Given the description of an element on the screen output the (x, y) to click on. 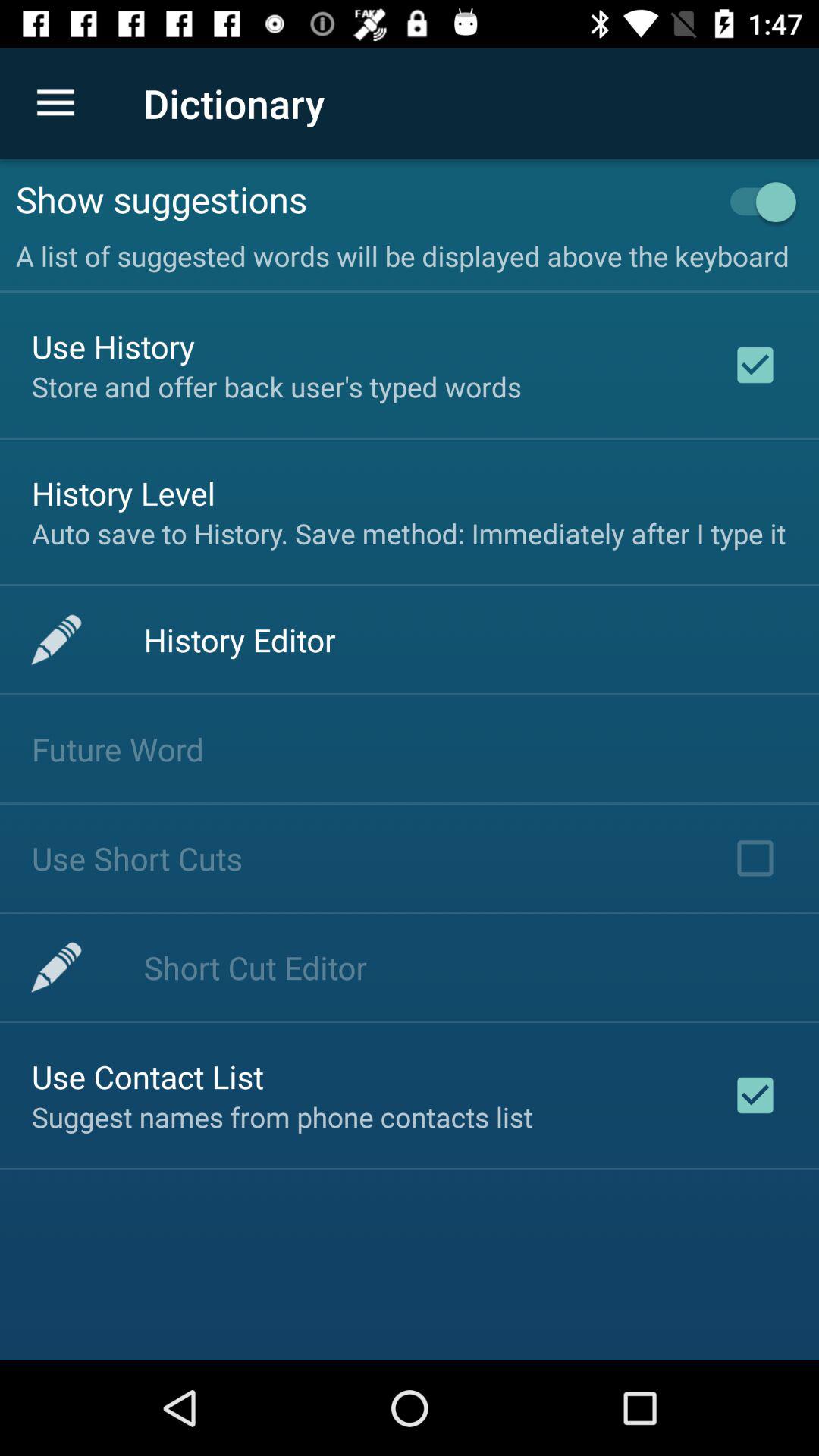
scroll to future word item (117, 748)
